Given the description of an element on the screen output the (x, y) to click on. 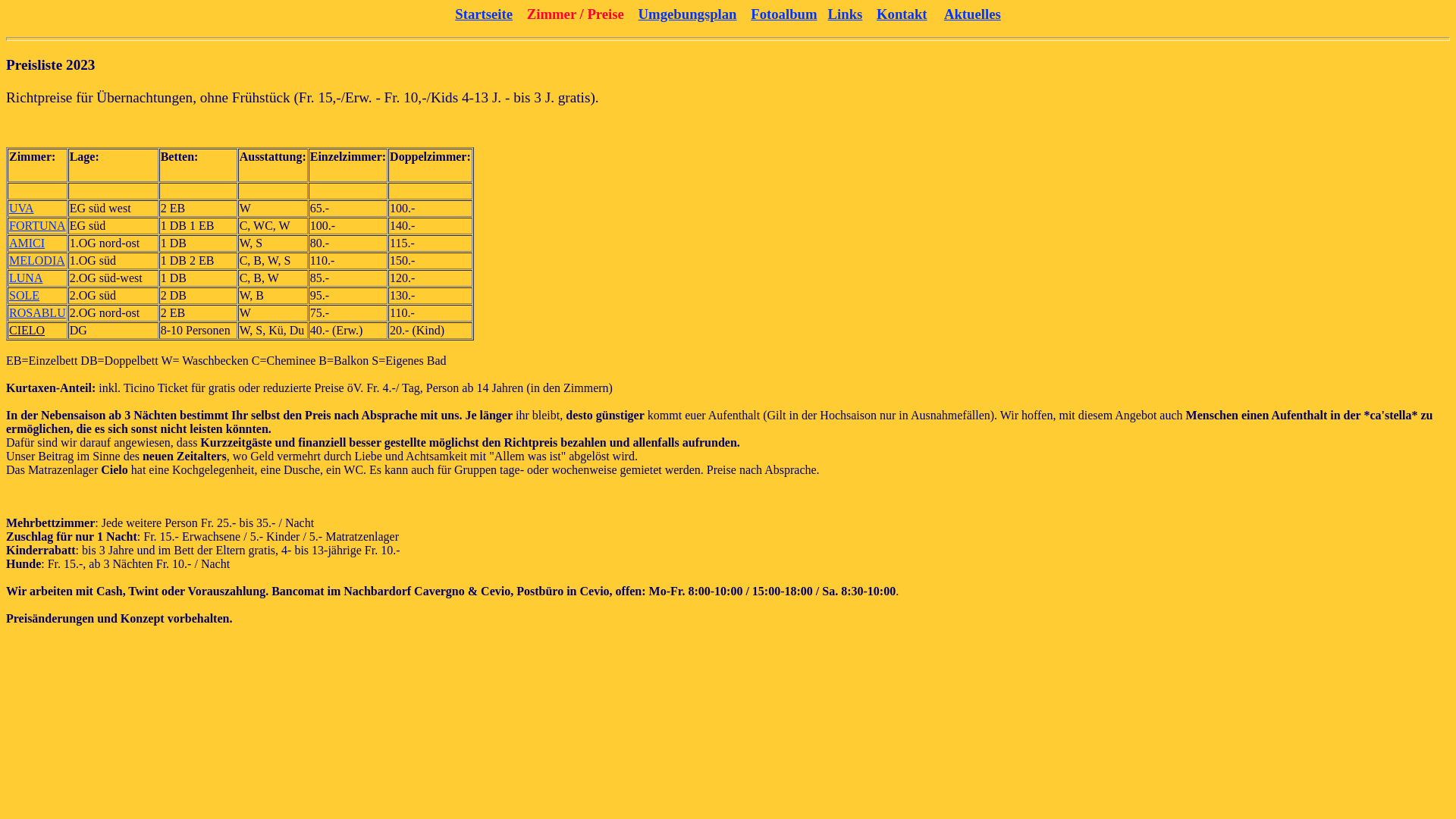
UVA Element type: text (21, 207)
FORTUNA Element type: text (37, 225)
SOLE Element type: text (24, 294)
AMICI Element type: text (26, 242)
Fotoalbum Element type: text (783, 13)
MELODIA Element type: text (37, 260)
Startseite Element type: text (483, 13)
LUNA Element type: text (25, 277)
Kontakt Element type: text (901, 13)
Links Element type: text (845, 13)
ROSABLU Element type: text (37, 312)
Aktuelles Element type: text (972, 13)
Umgebungsplan Element type: text (687, 13)
